Given the description of an element on the screen output the (x, y) to click on. 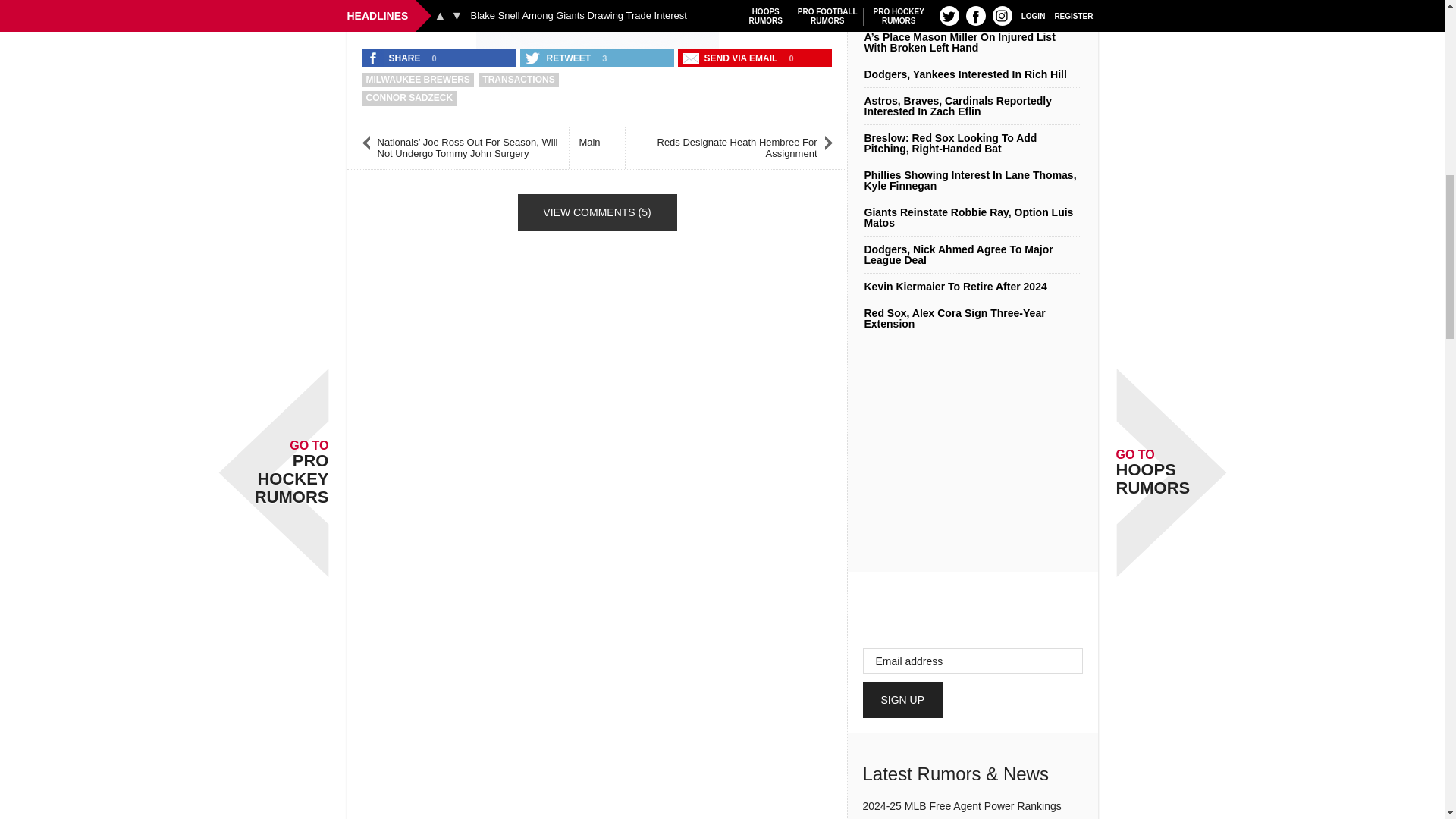
Share 'Brewers Sign Connor Sadzeck' on Facebook (395, 58)
Sign Up (903, 699)
Retweet 'Brewers Sign Connor Sadzeck' on Twitter (558, 58)
Send Brewers Sign Connor Sadzeck with an email (732, 58)
3rd party ad content (597, 20)
